Given the description of an element on the screen output the (x, y) to click on. 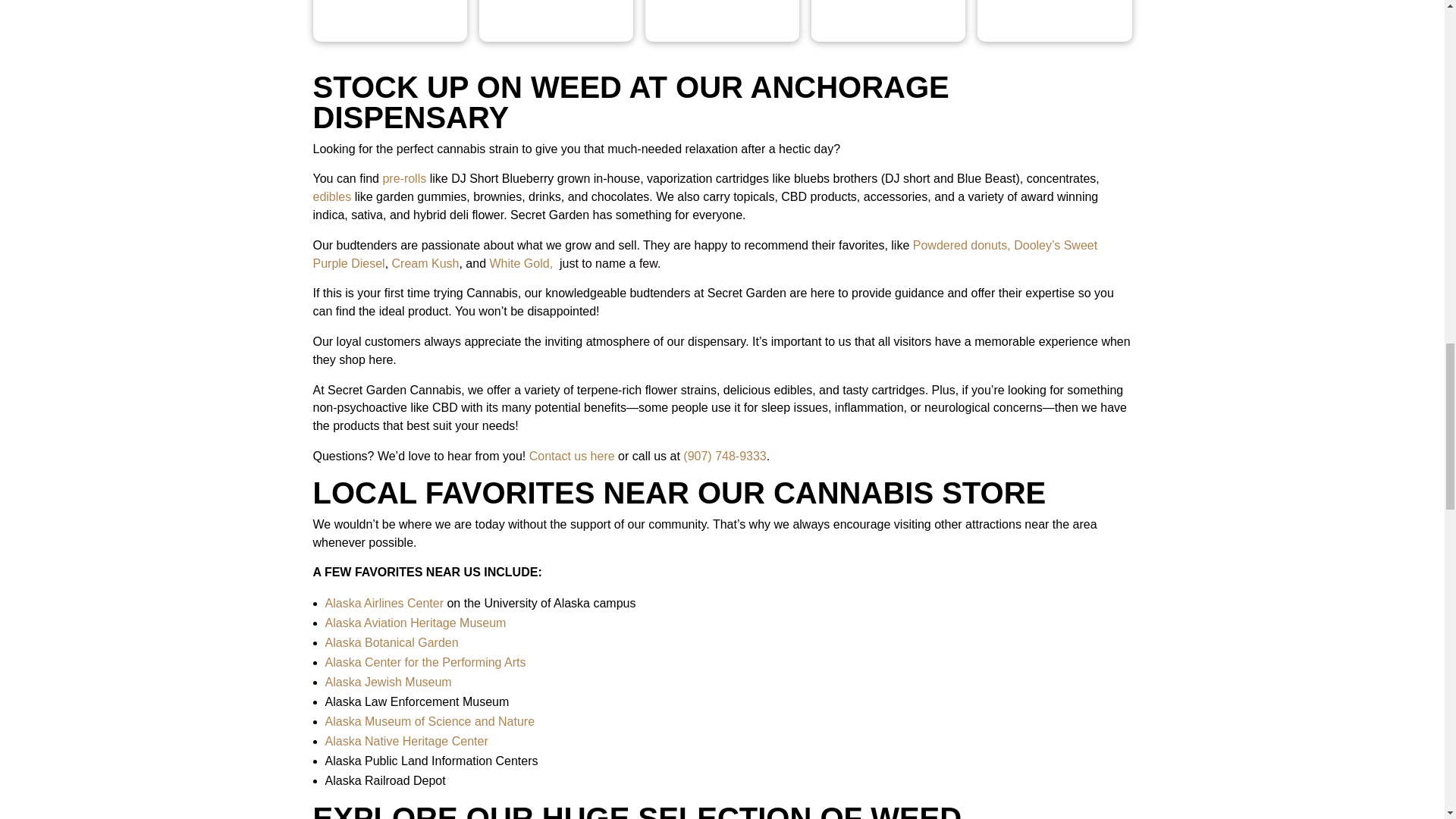
Alaska Airlines Center (384, 603)
White Gold,  just to name a few. (575, 263)
edibles (331, 196)
Cream Kush (425, 263)
Contact us here (571, 455)
pre-rolls (403, 178)
